Given the description of an element on the screen output the (x, y) to click on. 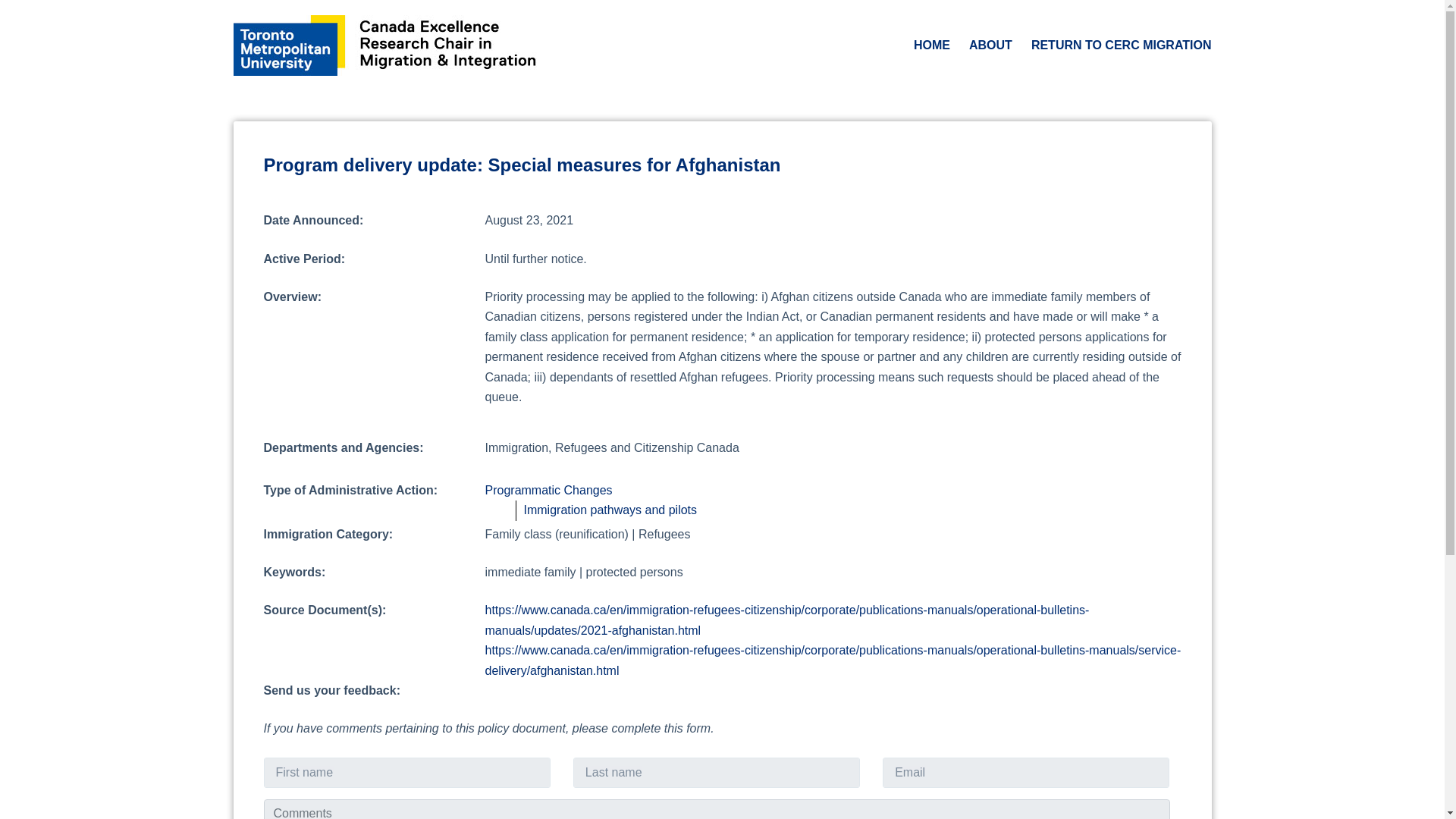
HOME (931, 45)
Skip to content (15, 7)
ABOUT (990, 45)
Immigration pathways and pilots (609, 509)
RETURN TO CERC MIGRATION (1116, 45)
Programmatic Changes (548, 490)
